Given the description of an element on the screen output the (x, y) to click on. 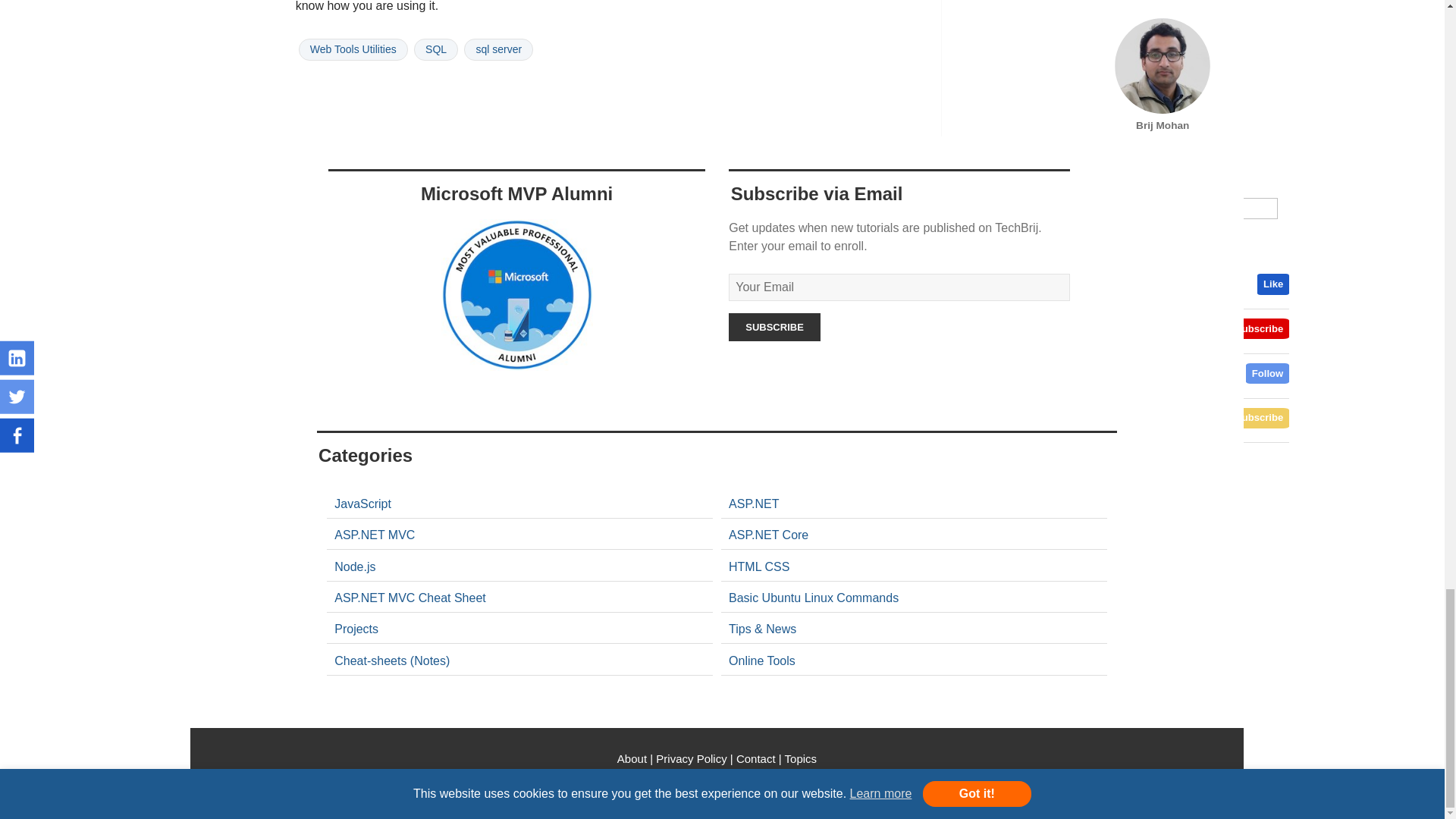
SQL (435, 49)
Contact (756, 758)
Online Tools (762, 628)
Node.js (354, 566)
About (633, 758)
ASP.NET MVC (374, 534)
JavaScript (362, 503)
ASP.NET (753, 503)
Basic Ubuntu Linux Commands (813, 597)
ASP.NET MVC Cheat Sheet (410, 597)
sql server (498, 49)
Online Tools (761, 660)
Online Tools (356, 628)
Notes (391, 660)
Privacy Policy (691, 758)
